Given the description of an element on the screen output the (x, y) to click on. 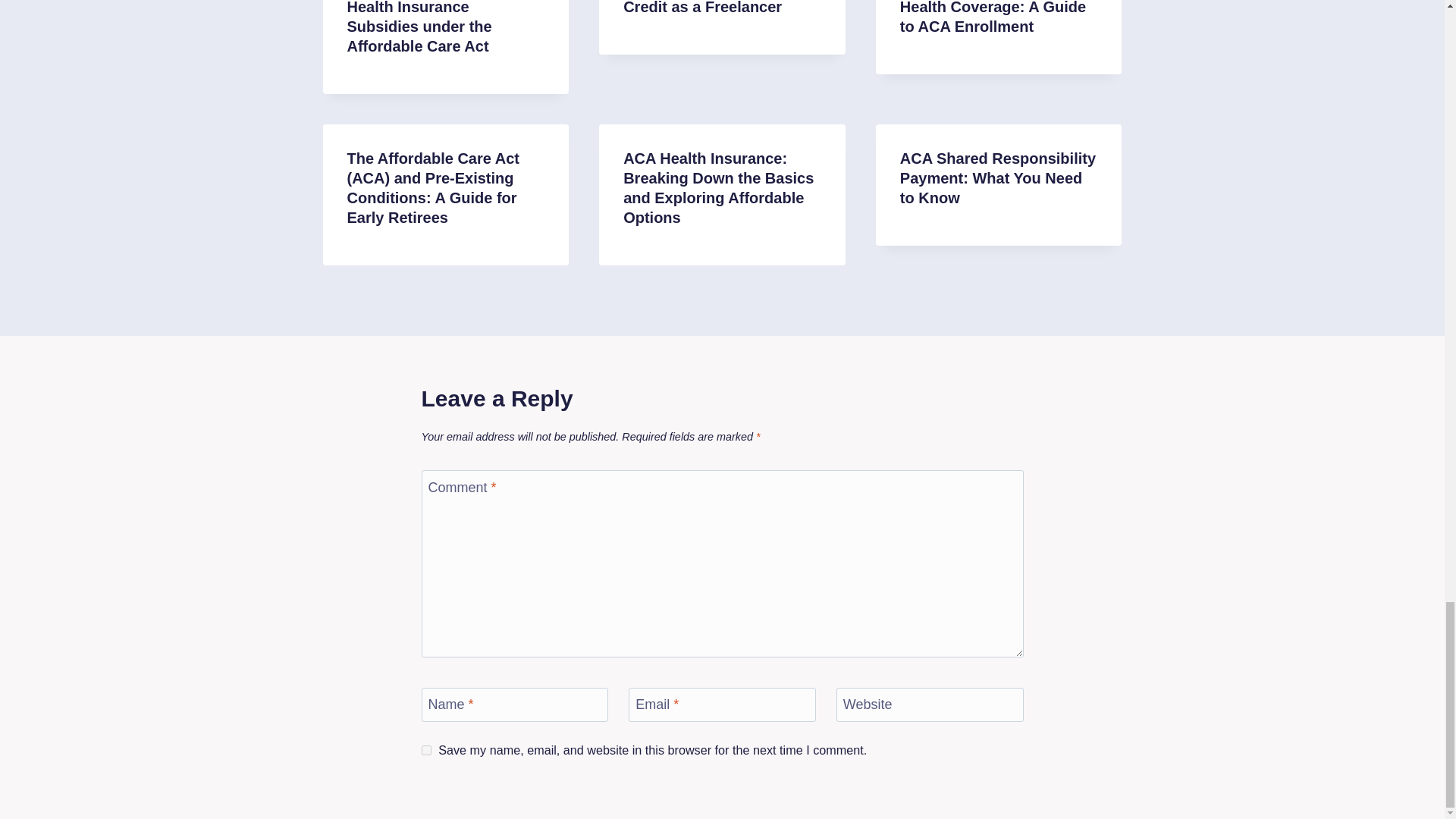
ACA Shared Responsibility Payment: What You Need to Know (997, 177)
Maximizing Your ACA Tax Credit as a Freelancer (715, 7)
yes (426, 750)
